Given the description of an element on the screen output the (x, y) to click on. 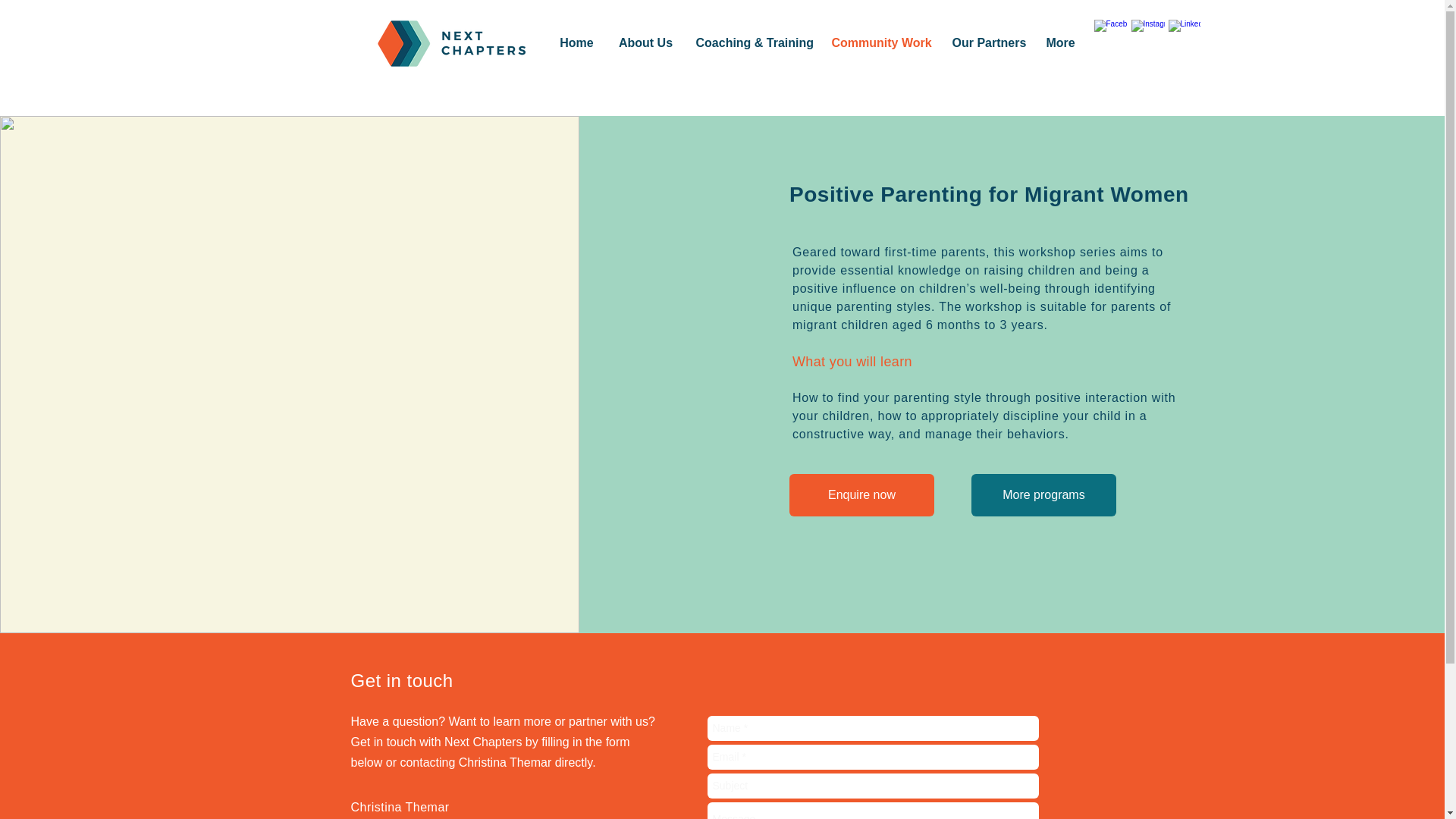
Home (576, 43)
Our Partners (986, 43)
About Us (645, 43)
Enquire now (861, 495)
More programs (1043, 495)
Community Work (880, 43)
